Given the description of an element on the screen output the (x, y) to click on. 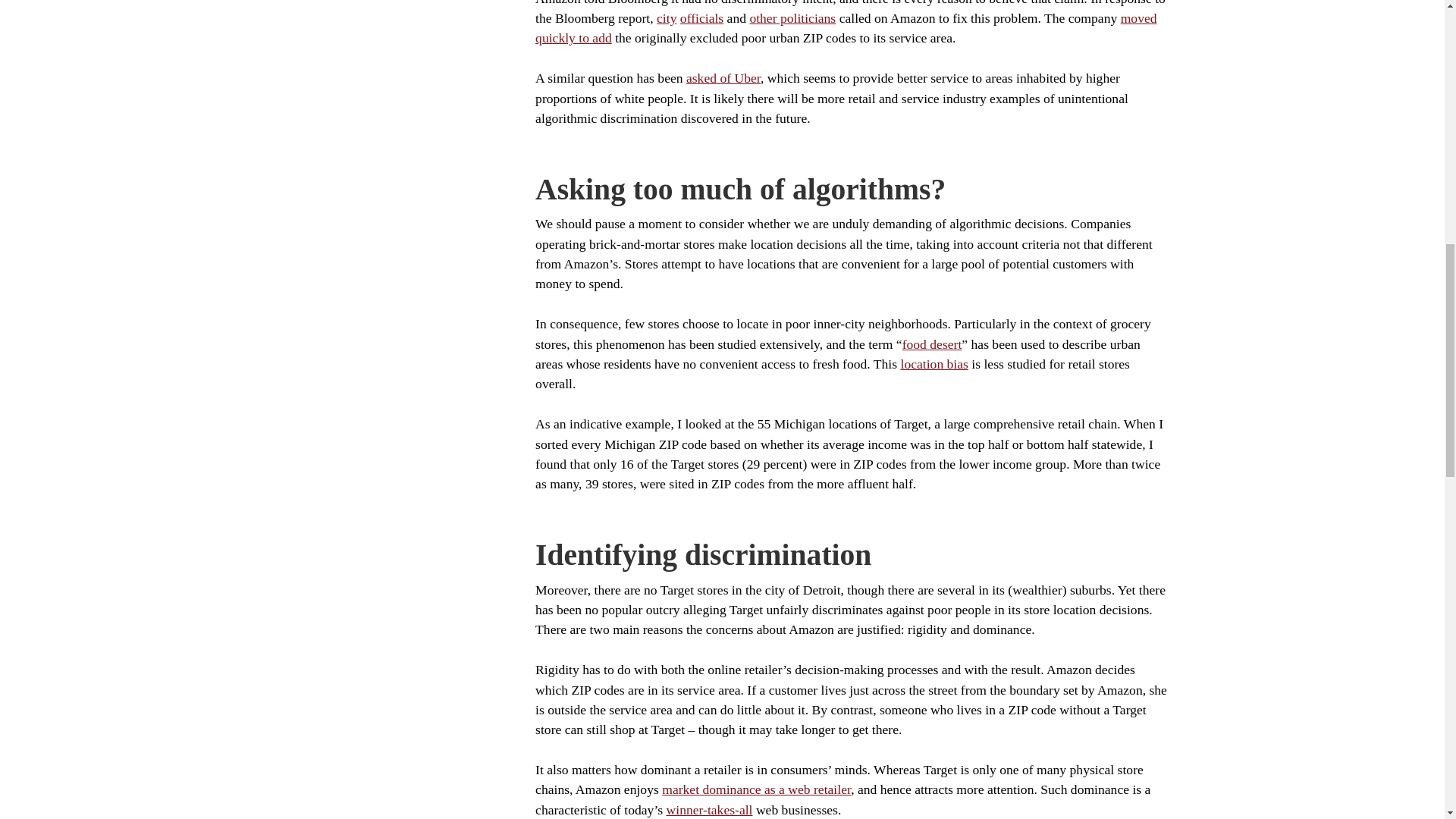
city (666, 17)
asked of Uber (722, 77)
market dominance as a web retailer (756, 789)
officials (701, 17)
food desert (932, 344)
moved quickly to add (845, 27)
other politicians (792, 17)
winner-takes-all (709, 809)
location bias (934, 363)
